Given the description of an element on the screen output the (x, y) to click on. 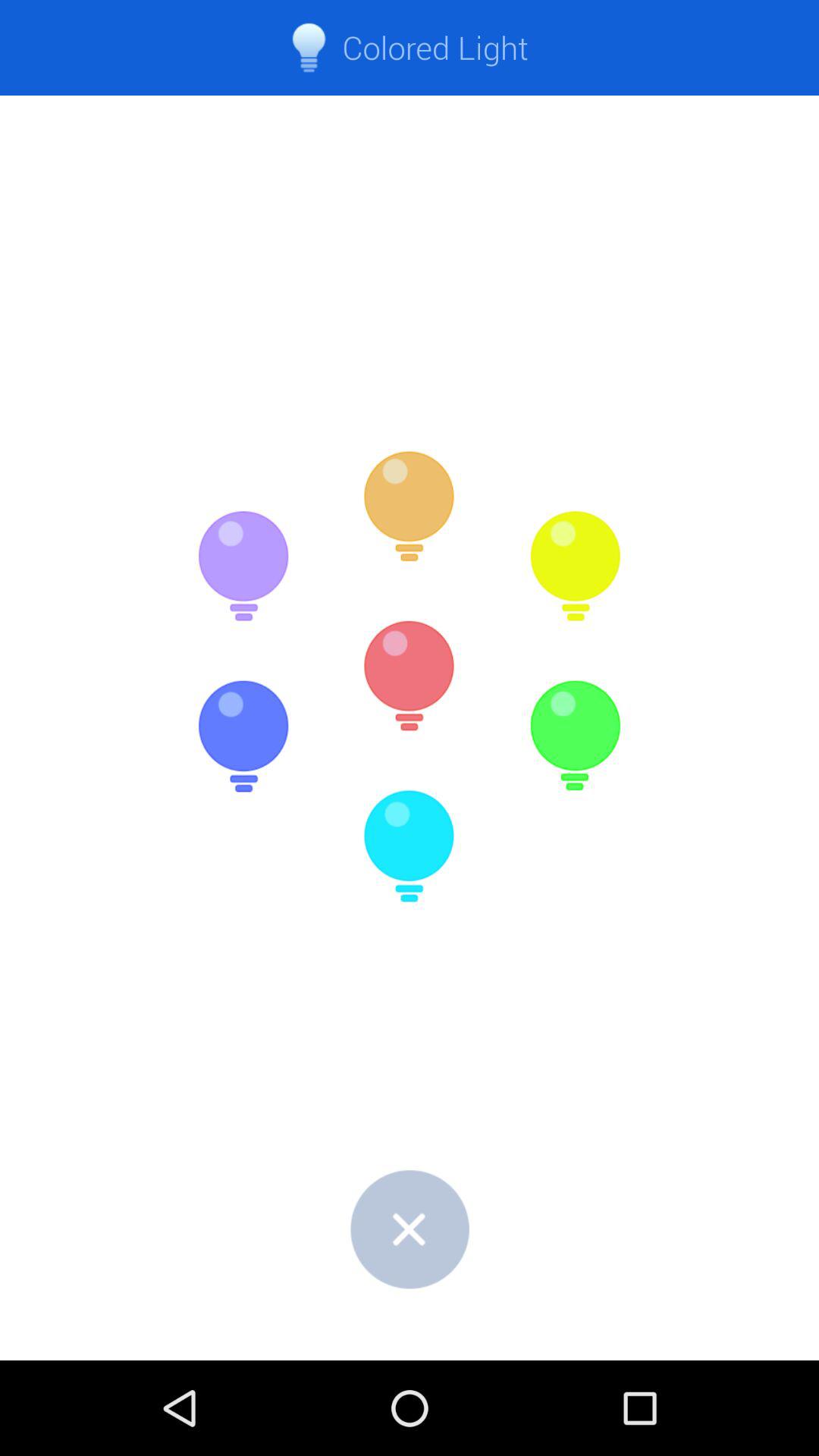
click the icon below colored light item (409, 506)
